Given the description of an element on the screen output the (x, y) to click on. 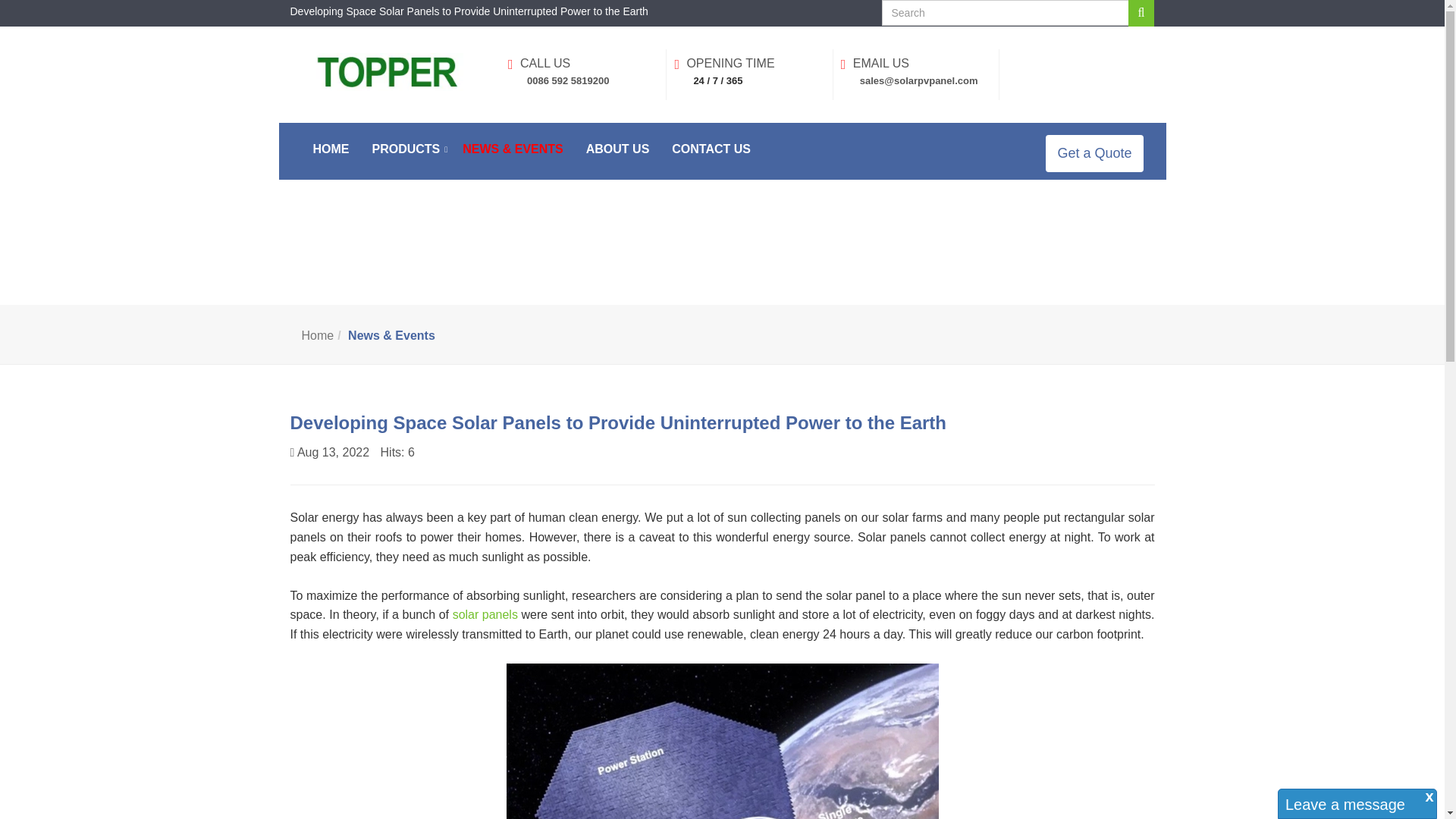
Get a Quote (1093, 153)
Home (317, 335)
0086 592 5819200 (567, 81)
Home (317, 335)
About Us (618, 149)
PRODUCTS (406, 149)
Products (406, 149)
Solar PV Panels (386, 71)
0086 592 5819200 (567, 81)
Get a Quote (1093, 153)
Contact Us (711, 149)
HOME (331, 149)
Home (331, 149)
solar panels (485, 614)
CONTACT US (711, 149)
